Given the description of an element on the screen output the (x, y) to click on. 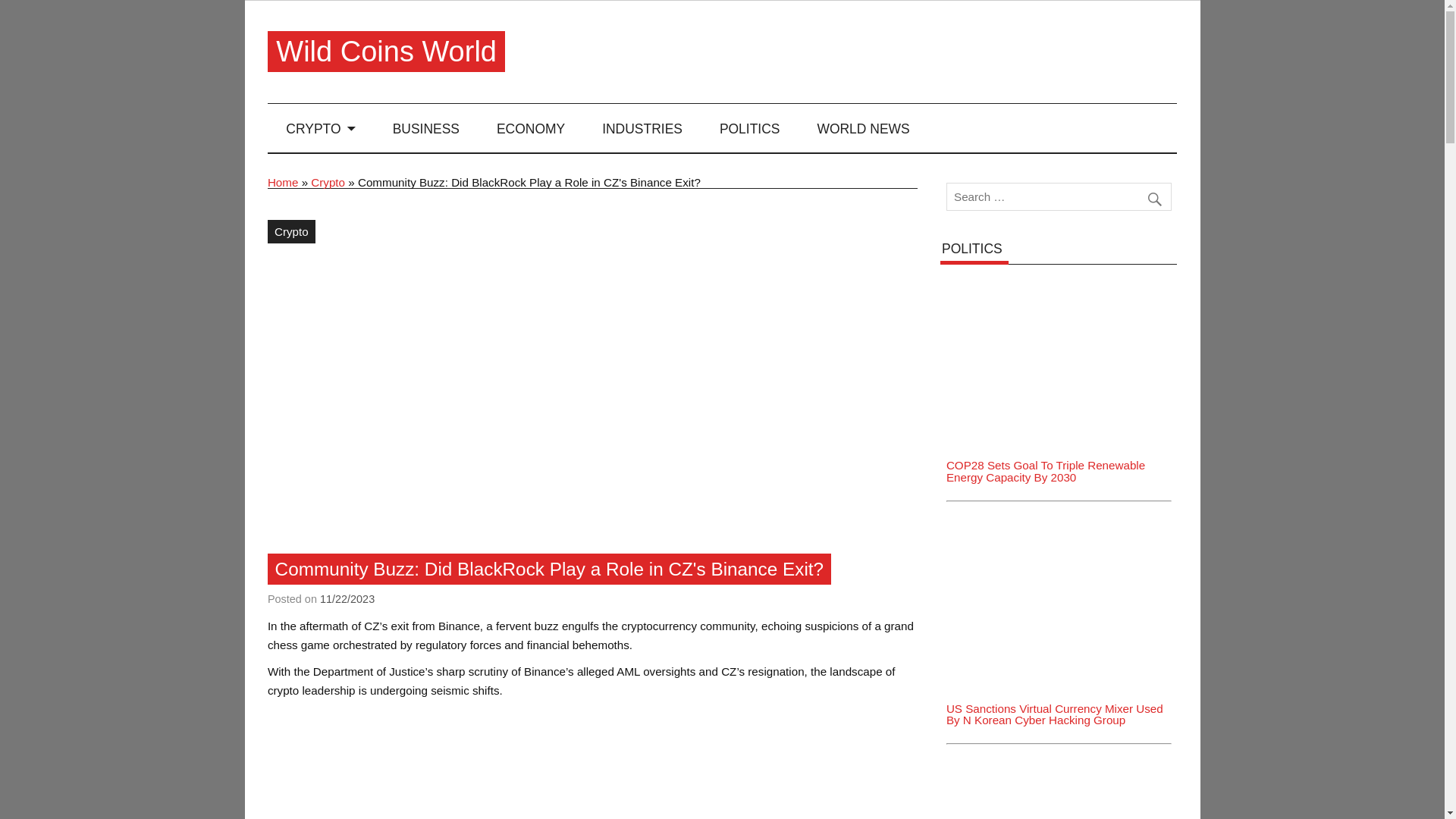
5:39 pm (347, 598)
COP28 Sets Goal To Triple Renewable Energy Capacity By 2030 (1059, 356)
Crypto (291, 231)
INDUSTRIES (642, 128)
Crypto (328, 182)
WORLD NEWS (862, 128)
CRYPTO (320, 128)
COP28 Sets Goal To Triple Renewable Energy Capacity By 2030 (1045, 470)
COP28 Sets Goal To Triple Renewable Energy Capacity By 2030 (1059, 281)
Home (282, 182)
POLITICS (748, 128)
